Given the description of an element on the screen output the (x, y) to click on. 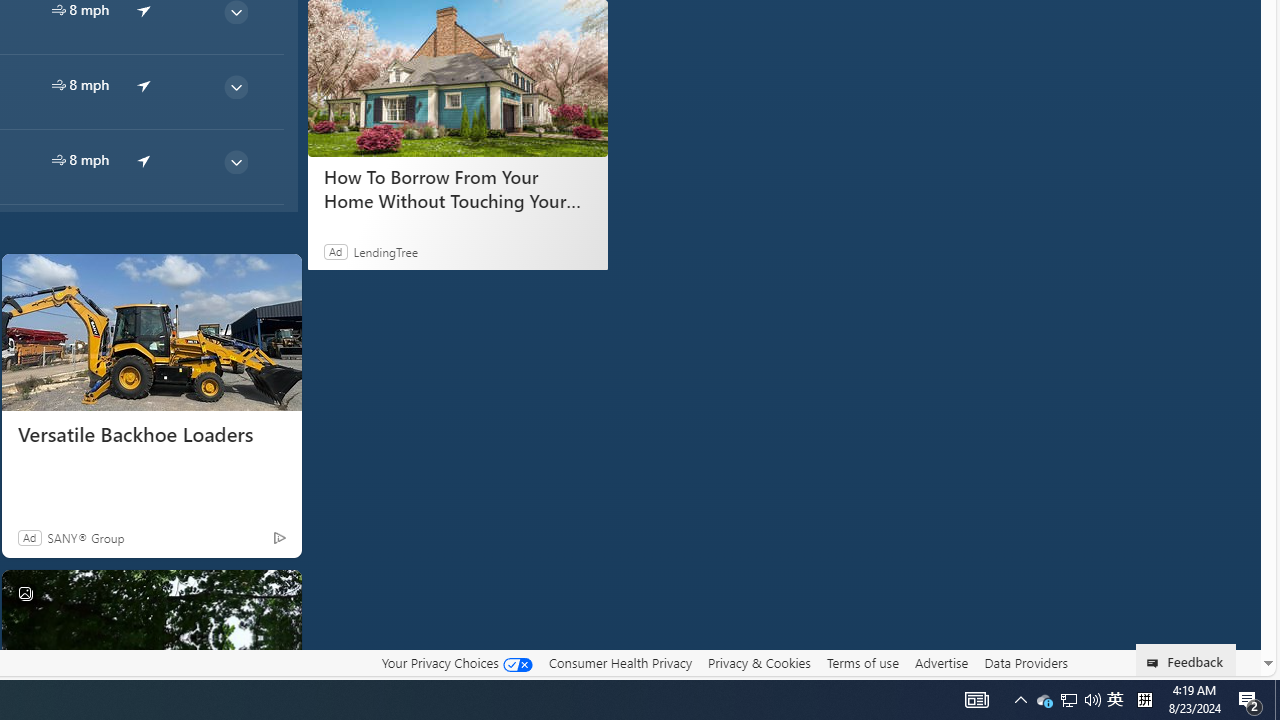
Your Privacy Choices (456, 662)
Privacy & Cookies (759, 662)
Terms of use (861, 662)
Data Providers (1025, 663)
Terms of use (861, 663)
hourlyTable/wind (58, 159)
Consumer Health Privacy (619, 663)
How To Borrow From Your Home Without Touching Your Mortgage (457, 78)
Privacy & Cookies (759, 663)
Consumer Health Privacy (619, 662)
Versatile Backhoe Loaders (150, 435)
Ad Choice (278, 537)
